Given the description of an element on the screen output the (x, y) to click on. 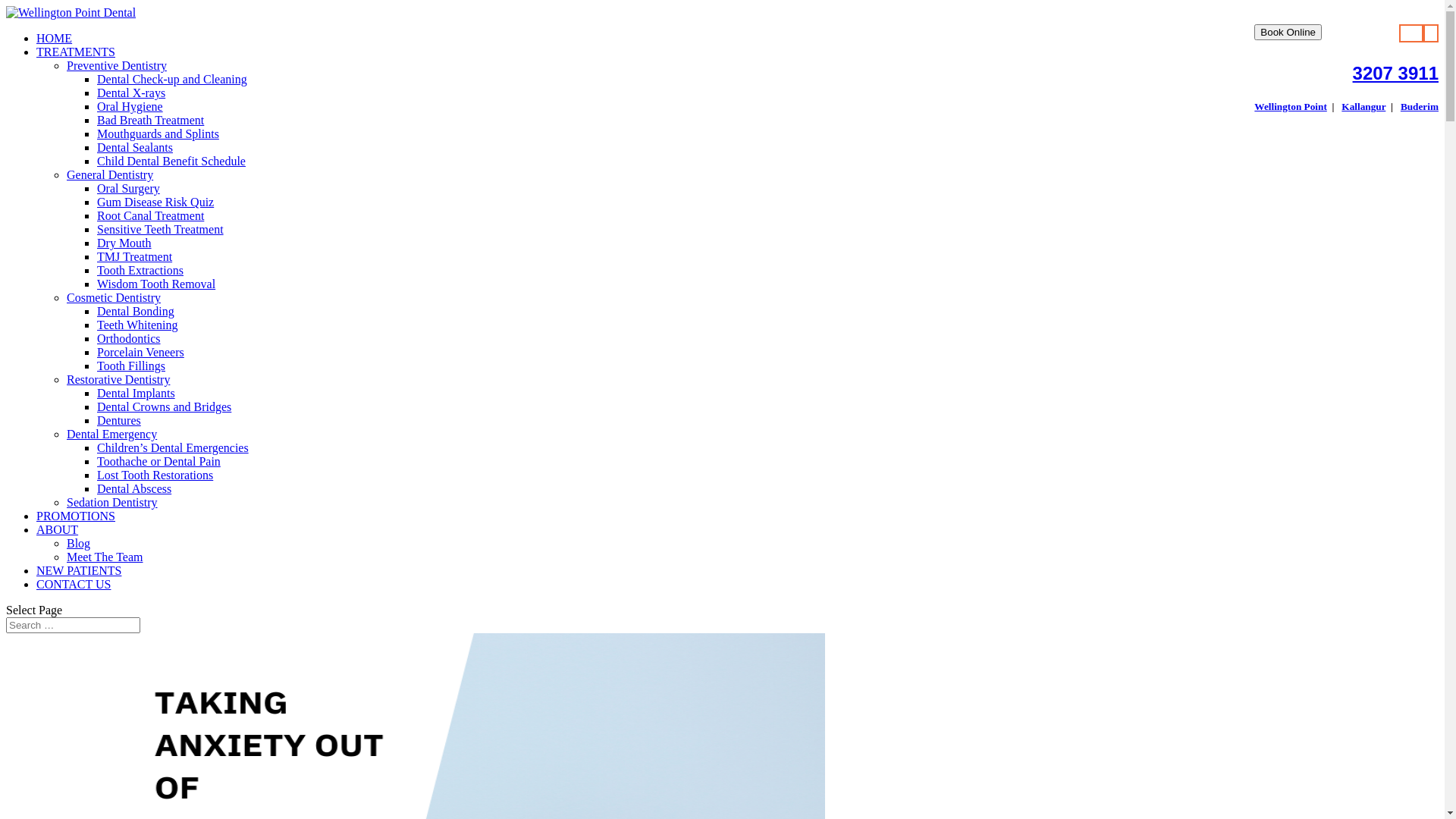
Sedation Dentistry Element type: text (111, 501)
Cosmetic Dentistry Element type: text (113, 297)
Dental X-rays Element type: text (131, 92)
Kallangur Element type: text (1363, 106)
Gum Disease Risk Quiz Element type: text (155, 201)
Search for: Element type: hover (73, 625)
Dental Implants Element type: text (136, 392)
3207 3911 Element type: text (1395, 72)
TREATMENTS Element type: text (75, 51)
Tooth Extractions Element type: text (140, 269)
Child Dental Benefit Schedule Element type: text (171, 160)
Dental Emergency Element type: text (111, 433)
Dental Bonding Element type: text (135, 310)
Orthodontics Element type: text (128, 338)
Dental Check-up and Cleaning Element type: text (172, 78)
Wellington Point Element type: text (1290, 106)
Toothache or Dental Pain Element type: text (158, 461)
ABOUT Element type: text (57, 529)
Meet The Team Element type: text (104, 556)
Dental Abscess Element type: text (134, 488)
Porcelain Veneers Element type: text (140, 351)
Dentures Element type: text (119, 420)
Mouthguards and Splints Element type: text (158, 133)
Book Online Element type: text (1287, 32)
Dry Mouth Element type: text (124, 242)
PROMOTIONS Element type: text (75, 515)
Buderim Element type: text (1419, 106)
Dental Sealants Element type: text (134, 147)
Bad Breath Treatment Element type: text (150, 119)
General Dentistry Element type: text (109, 174)
Wisdom Tooth Removal Element type: text (156, 283)
Lost Tooth Restorations Element type: text (155, 474)
HOME Element type: text (54, 37)
Preventive Dentistry Element type: text (116, 65)
Sensitive Teeth Treatment Element type: text (160, 228)
Oral Surgery Element type: text (128, 188)
TMJ Treatment Element type: text (134, 256)
NEW PATIENTS Element type: text (78, 570)
Book Online Element type: text (1287, 31)
Dental Crowns and Bridges Element type: text (164, 406)
Blog Element type: text (78, 542)
Teeth Whitening Element type: text (137, 324)
Tooth Fillings Element type: text (131, 365)
Root Canal Treatment Element type: text (150, 215)
CONTACT US Element type: text (73, 583)
Oral Hygiene Element type: text (130, 106)
Restorative Dentistry Element type: text (117, 379)
